Given the description of an element on the screen output the (x, y) to click on. 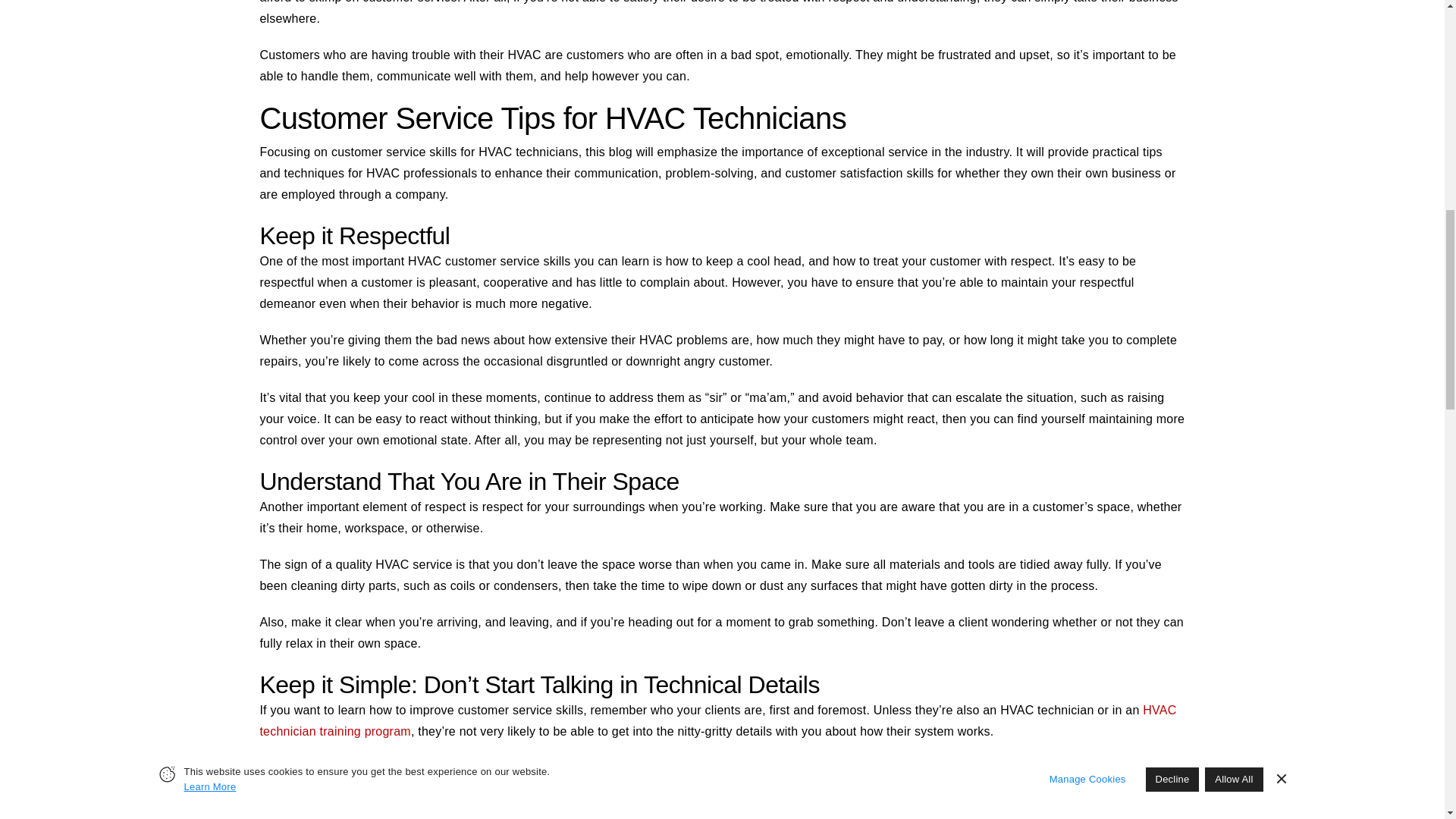
HVAC technician training program (717, 720)
